Given the description of an element on the screen output the (x, y) to click on. 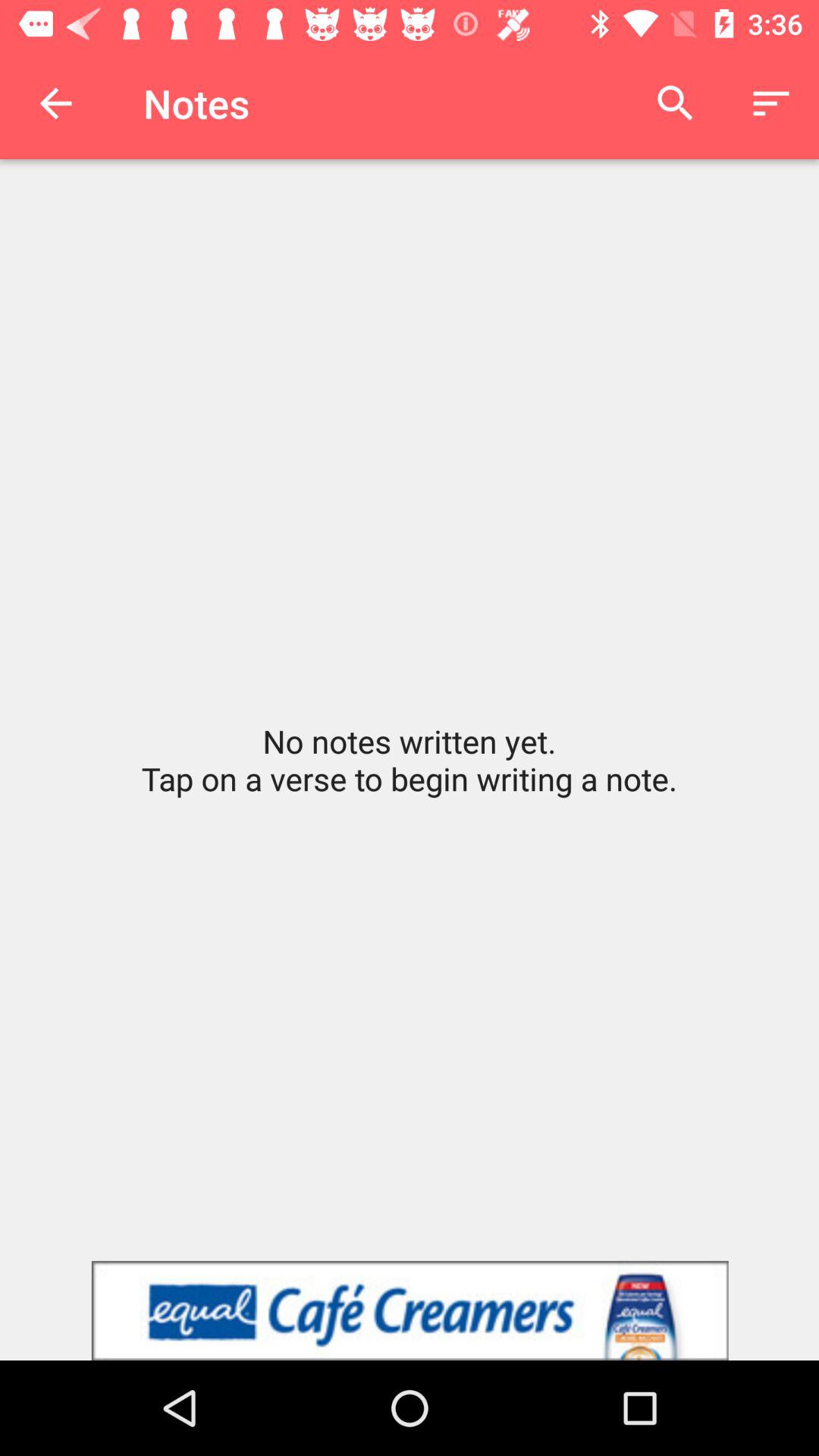
advertisement image (409, 1310)
